Given the description of an element on the screen output the (x, y) to click on. 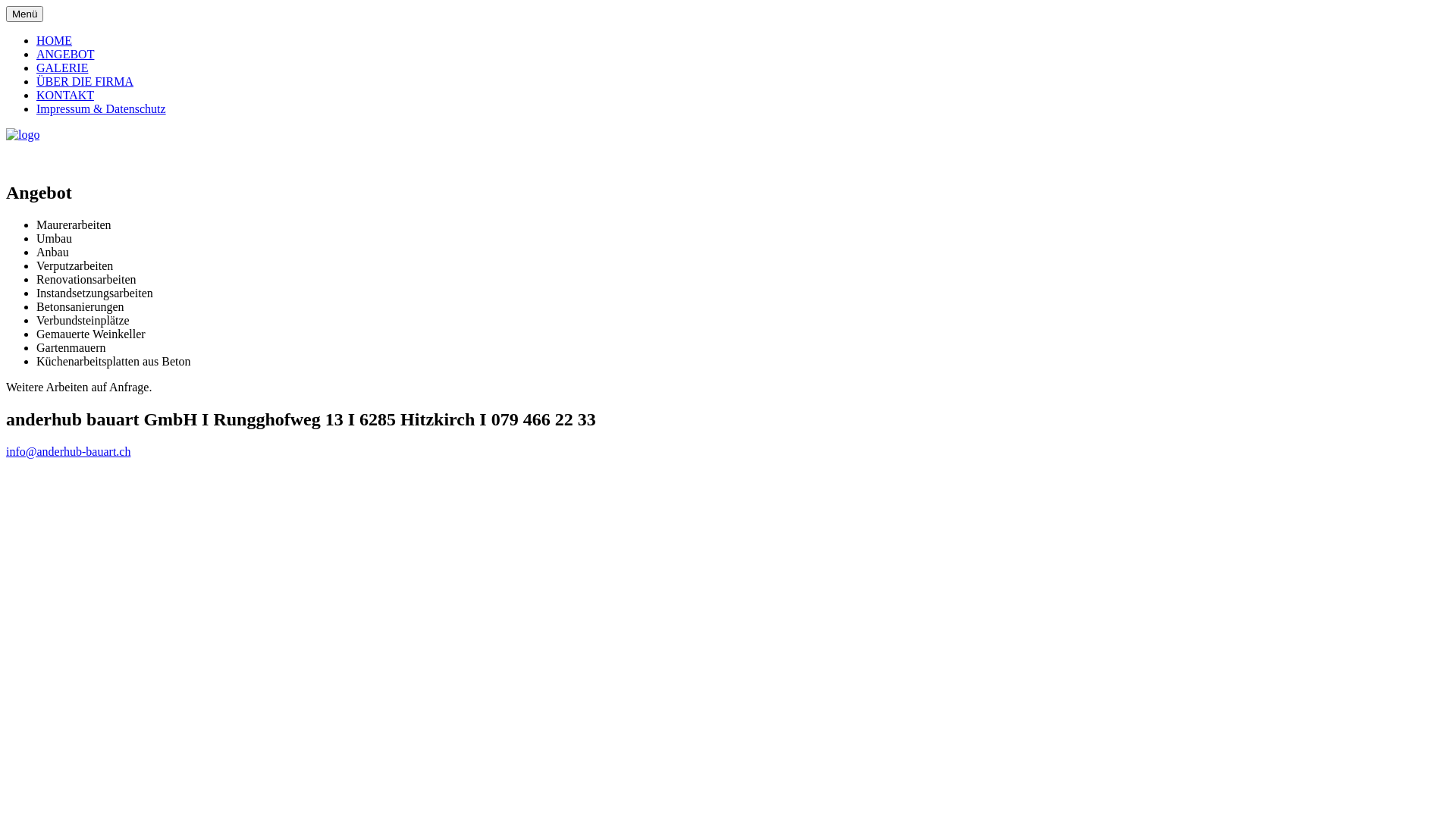
ANGEBOT Element type: text (65, 53)
logo Element type: hover (22, 134)
GALERIE Element type: text (61, 67)
info@anderhub-bauart.ch Element type: text (68, 451)
KONTAKT Element type: text (65, 94)
HOME Element type: text (54, 40)
Impressum & Datenschutz Element type: text (101, 108)
